Given the description of an element on the screen output the (x, y) to click on. 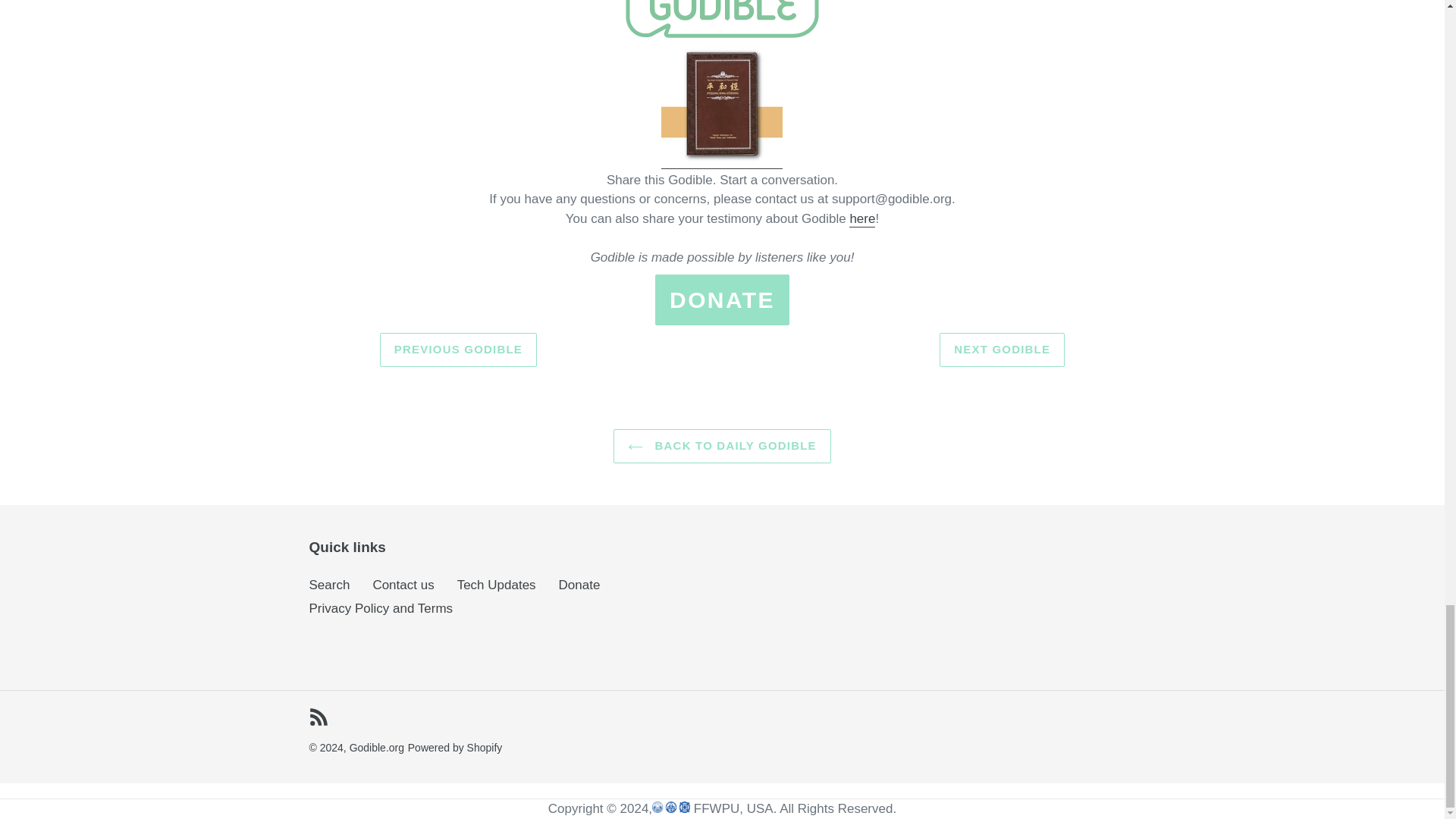
PREVIOUS GODIBLE (458, 349)
NEXT GODIBLE (1001, 349)
here (861, 219)
DONATE (722, 299)
